Given the description of an element on the screen output the (x, y) to click on. 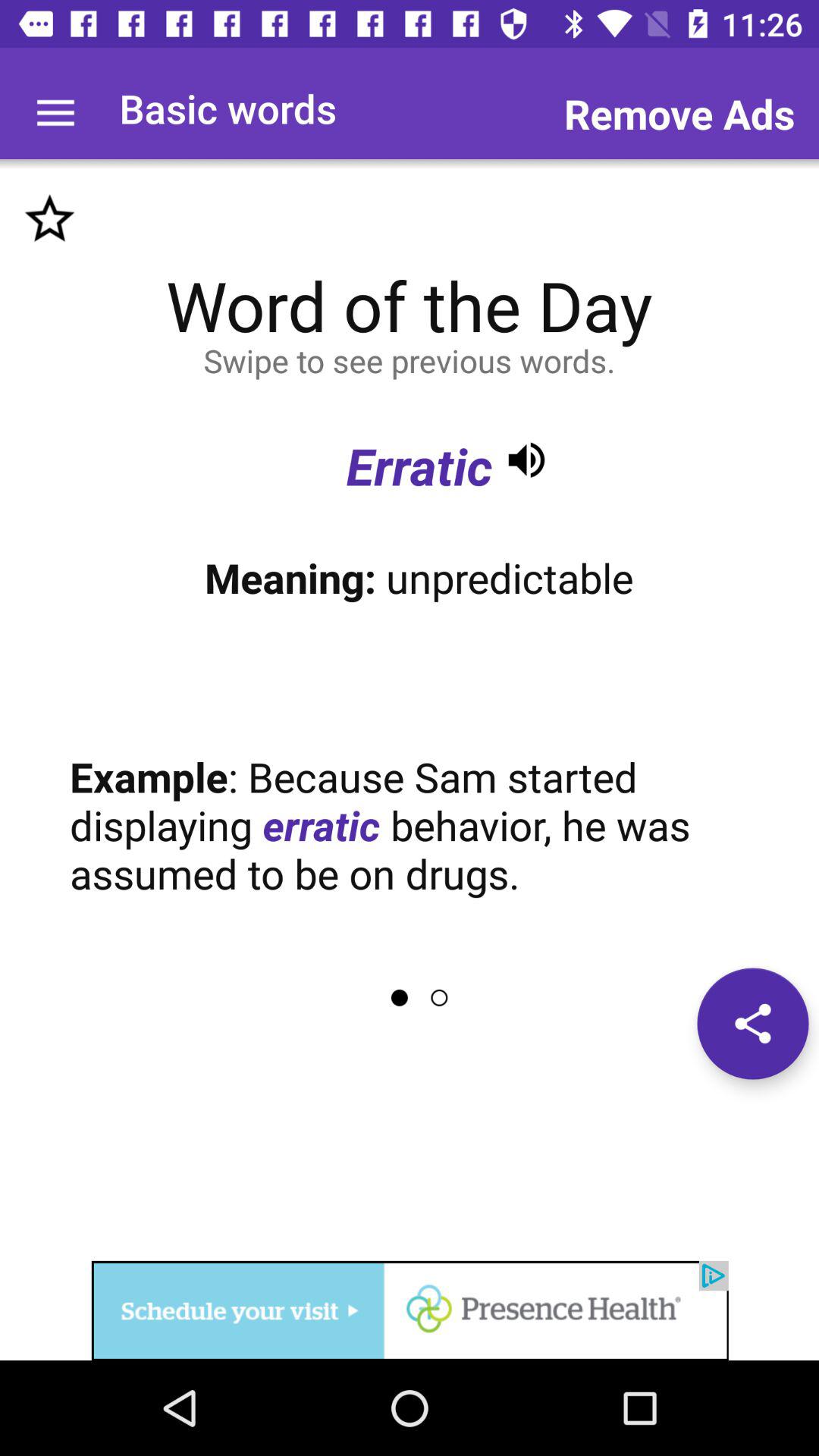
make favorite (49, 219)
